Given the description of an element on the screen output the (x, y) to click on. 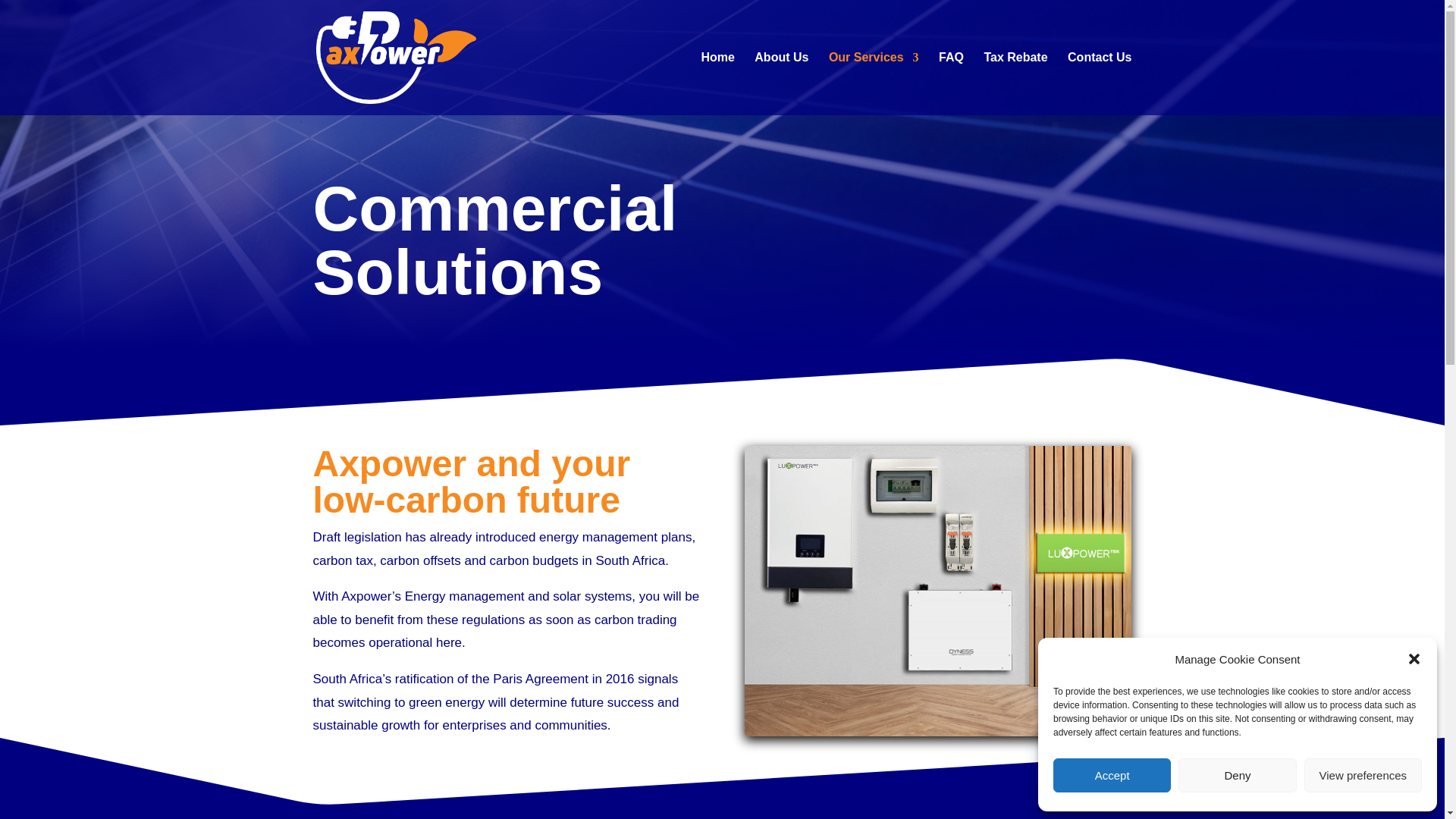
Accept (1111, 775)
View preferences (1363, 775)
Deny (1236, 775)
Our Services (873, 83)
Axpower and your low-carbon future (937, 590)
Contact Us (1099, 83)
Tax Rebate (1015, 83)
